Given the description of an element on the screen output the (x, y) to click on. 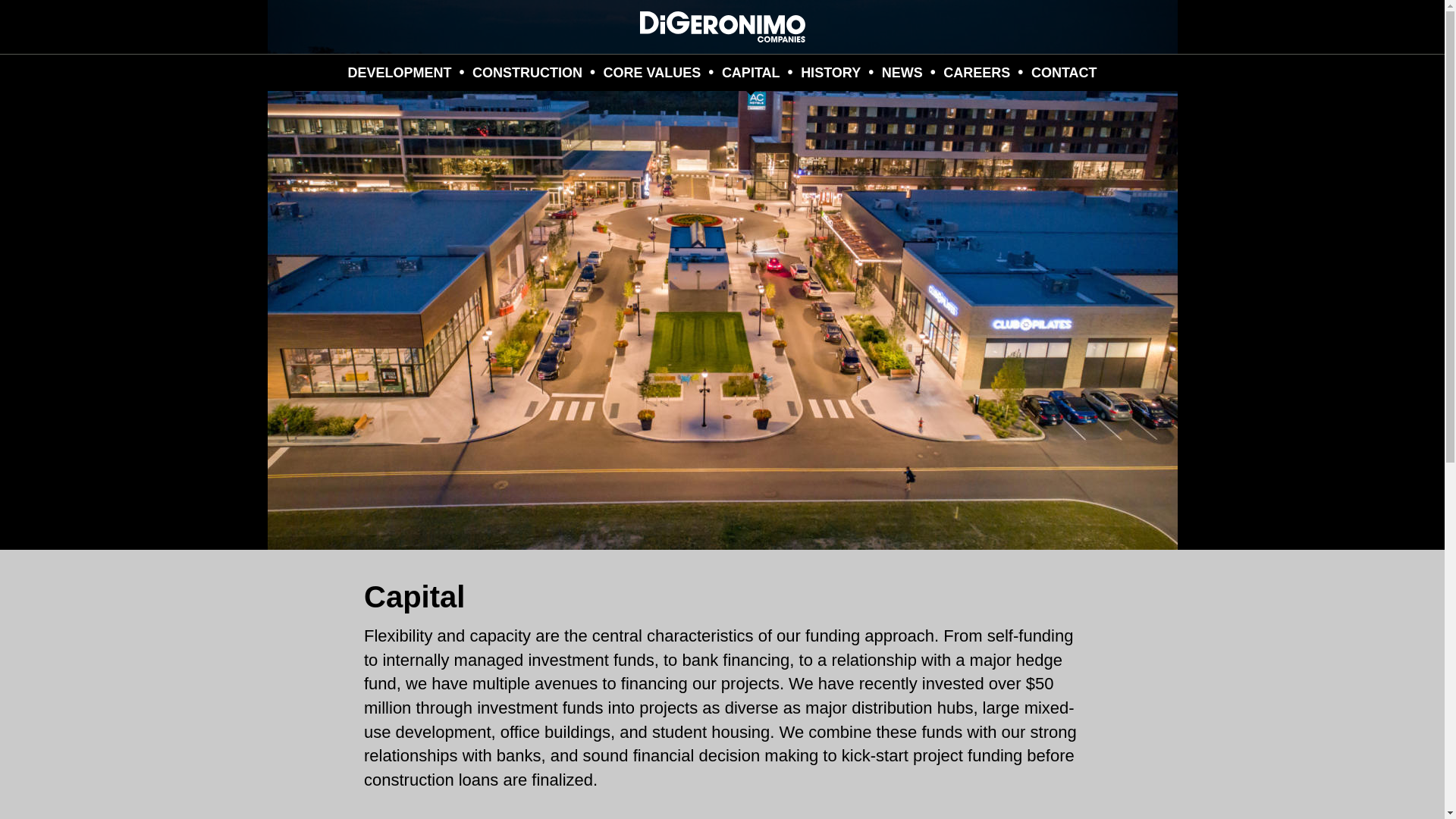
CORE VALUES (651, 72)
CAREERS (976, 72)
CAPITAL (750, 72)
CONSTRUCTION (527, 72)
HISTORY (830, 72)
CONTACT (1063, 72)
DEVELOPMENT (398, 72)
NEWS (901, 72)
